Given the description of an element on the screen output the (x, y) to click on. 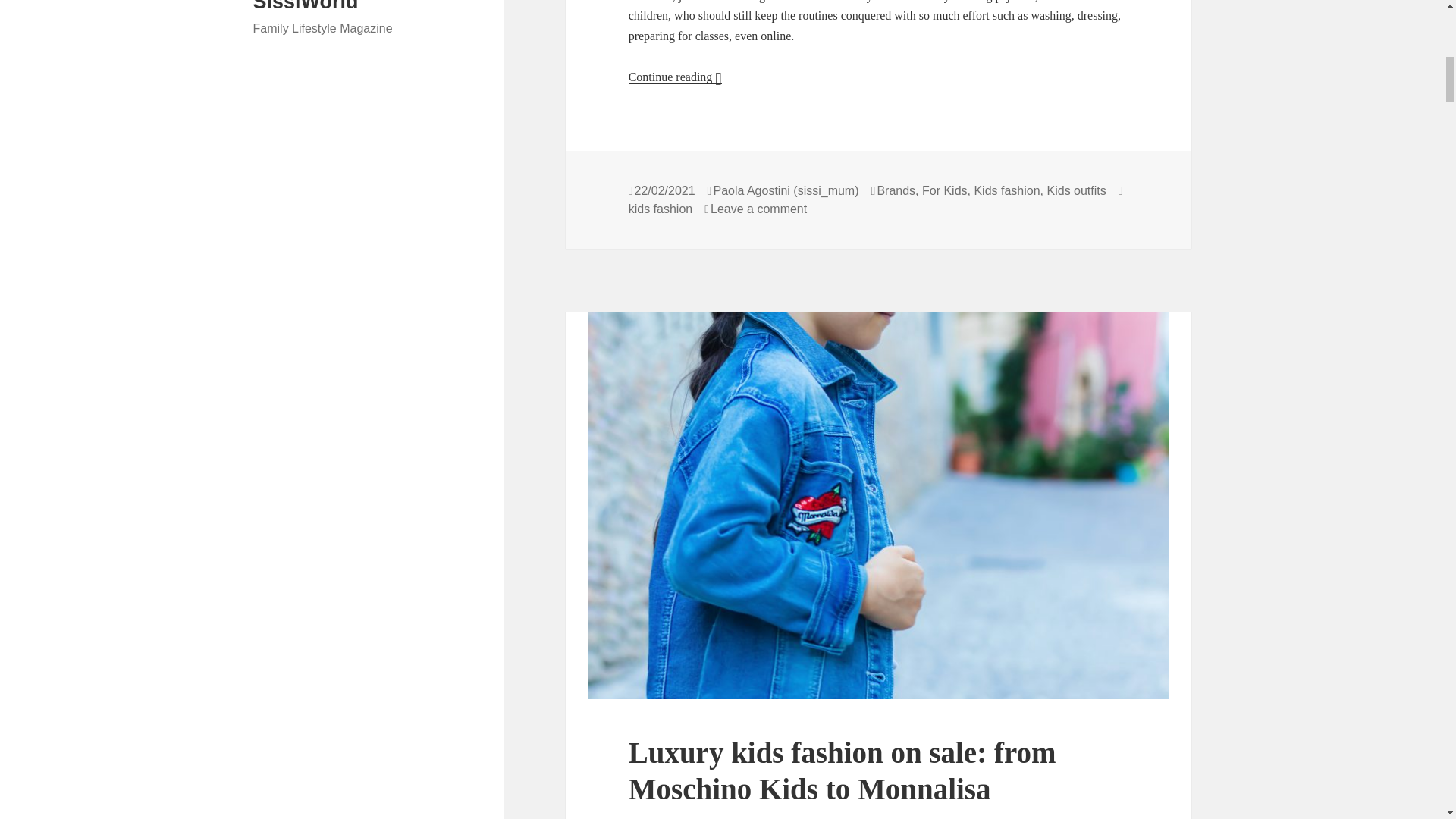
For Kids (944, 191)
Brands (895, 191)
Luxury kids fashion on sale: from Moschino Kids to Monnalisa (842, 770)
kids fashion (660, 209)
Kids fashion (1006, 191)
Kids outfits (1075, 191)
